Given the description of an element on the screen output the (x, y) to click on. 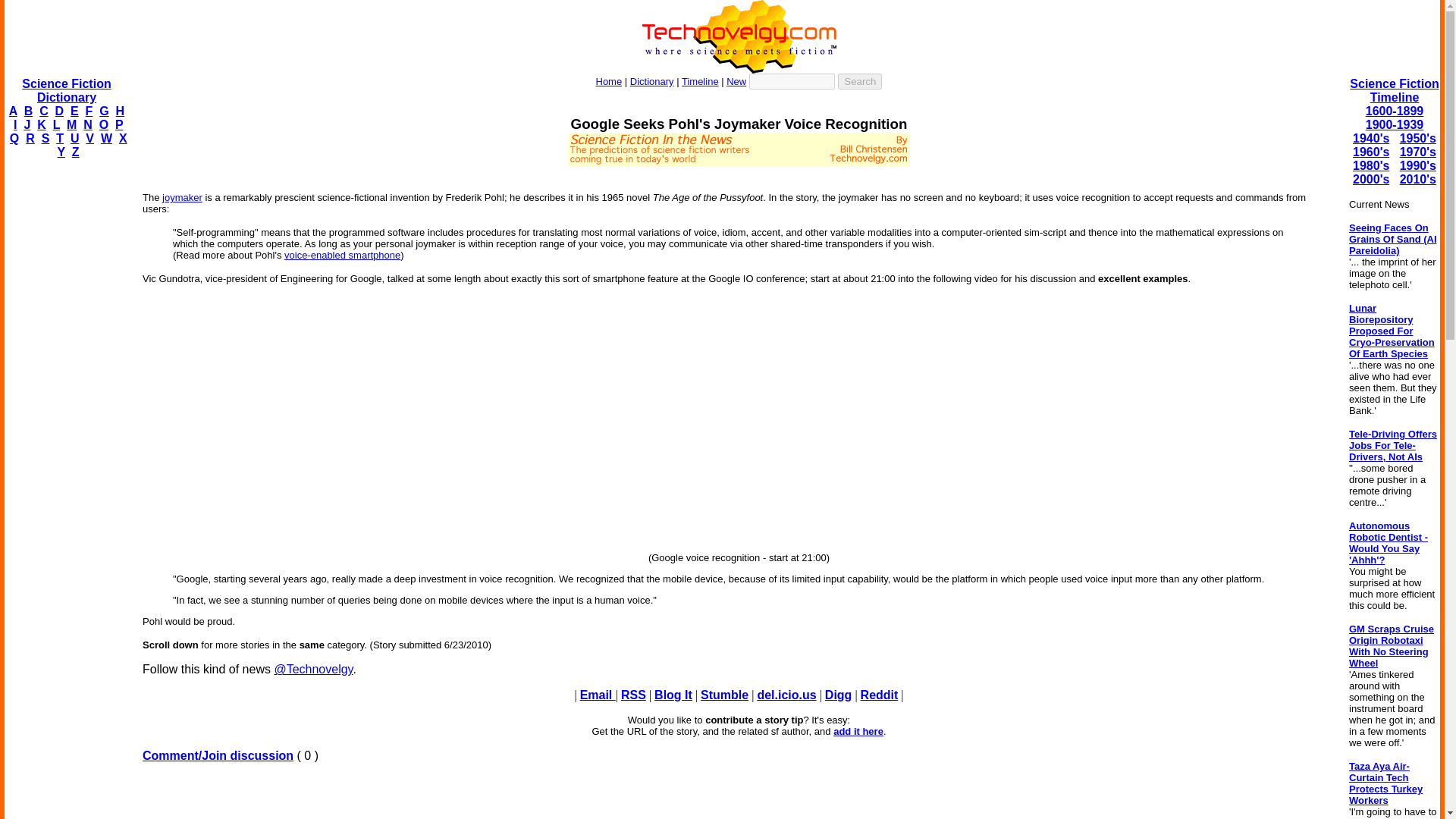
RSS (633, 694)
Blog It (673, 694)
New (735, 81)
Search (860, 81)
Stumble (724, 694)
Advertisement (738, 796)
Science Fiction Dictionary (65, 90)
Search (860, 81)
Timeline (700, 81)
voice-enabled smartphone (341, 255)
